Given the description of an element on the screen output the (x, y) to click on. 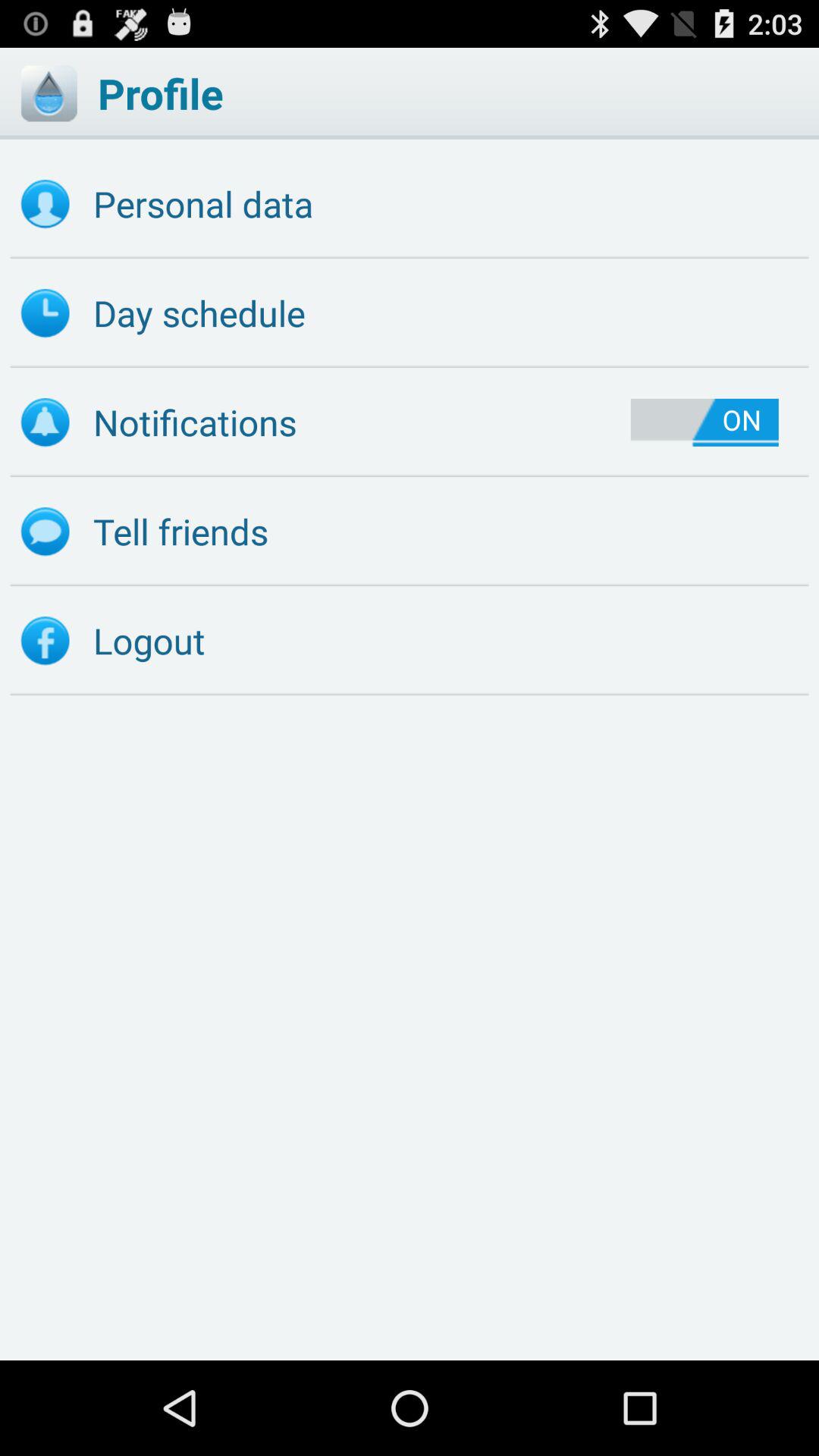
click button above the tell friends (704, 422)
